Given the description of an element on the screen output the (x, y) to click on. 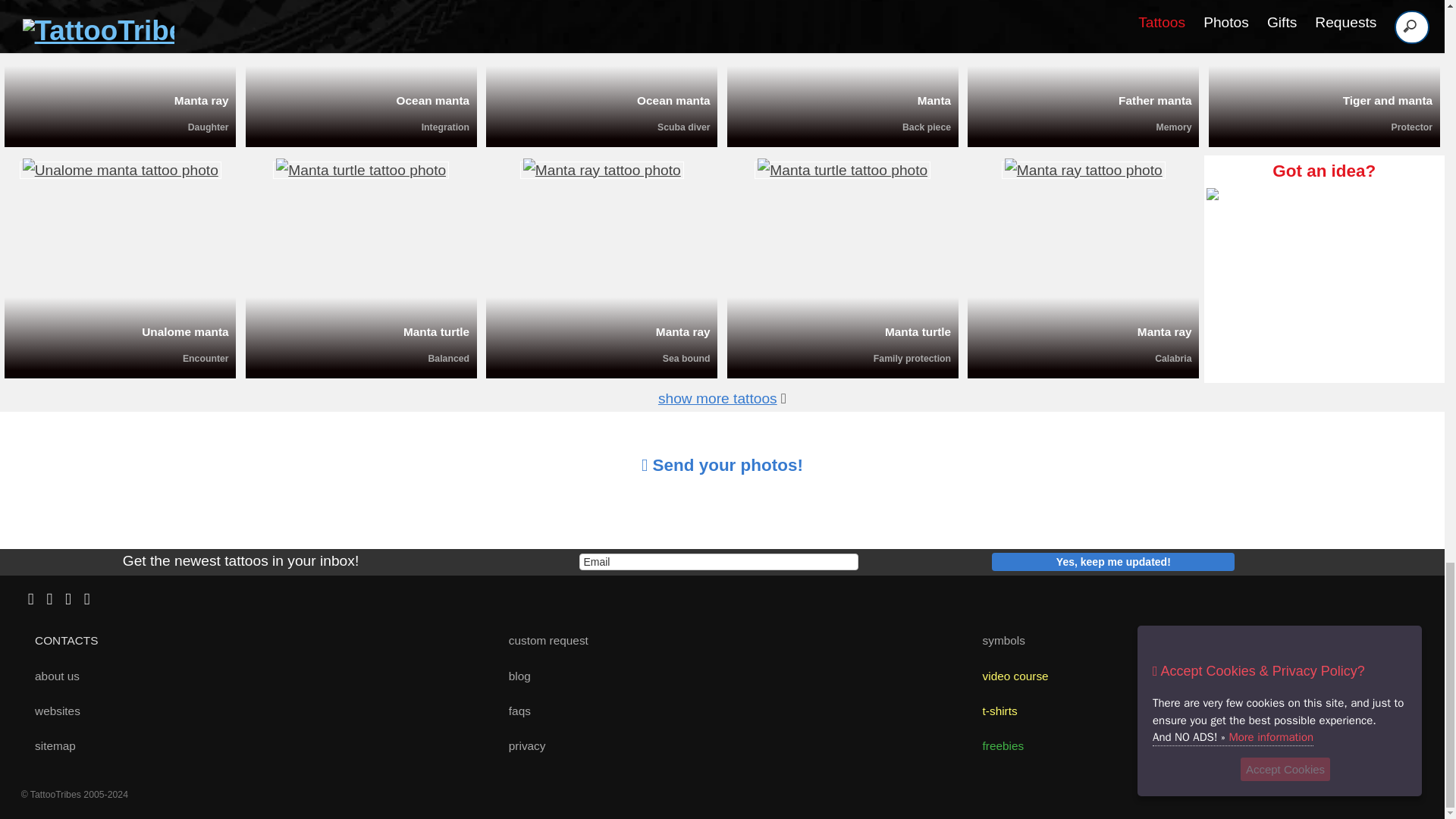
Polynesian Tattoos 101 video course (1009, 675)
Custom tattoo requests (542, 640)
About us (51, 675)
Our websites (51, 710)
Polynesian tattoo symbols wiki (998, 640)
Privacy policy (520, 745)
Frequently Asked Questions (512, 710)
Artists contacts (61, 640)
sitemap (49, 745)
TattooTribes blog (512, 675)
